Given the description of an element on the screen output the (x, y) to click on. 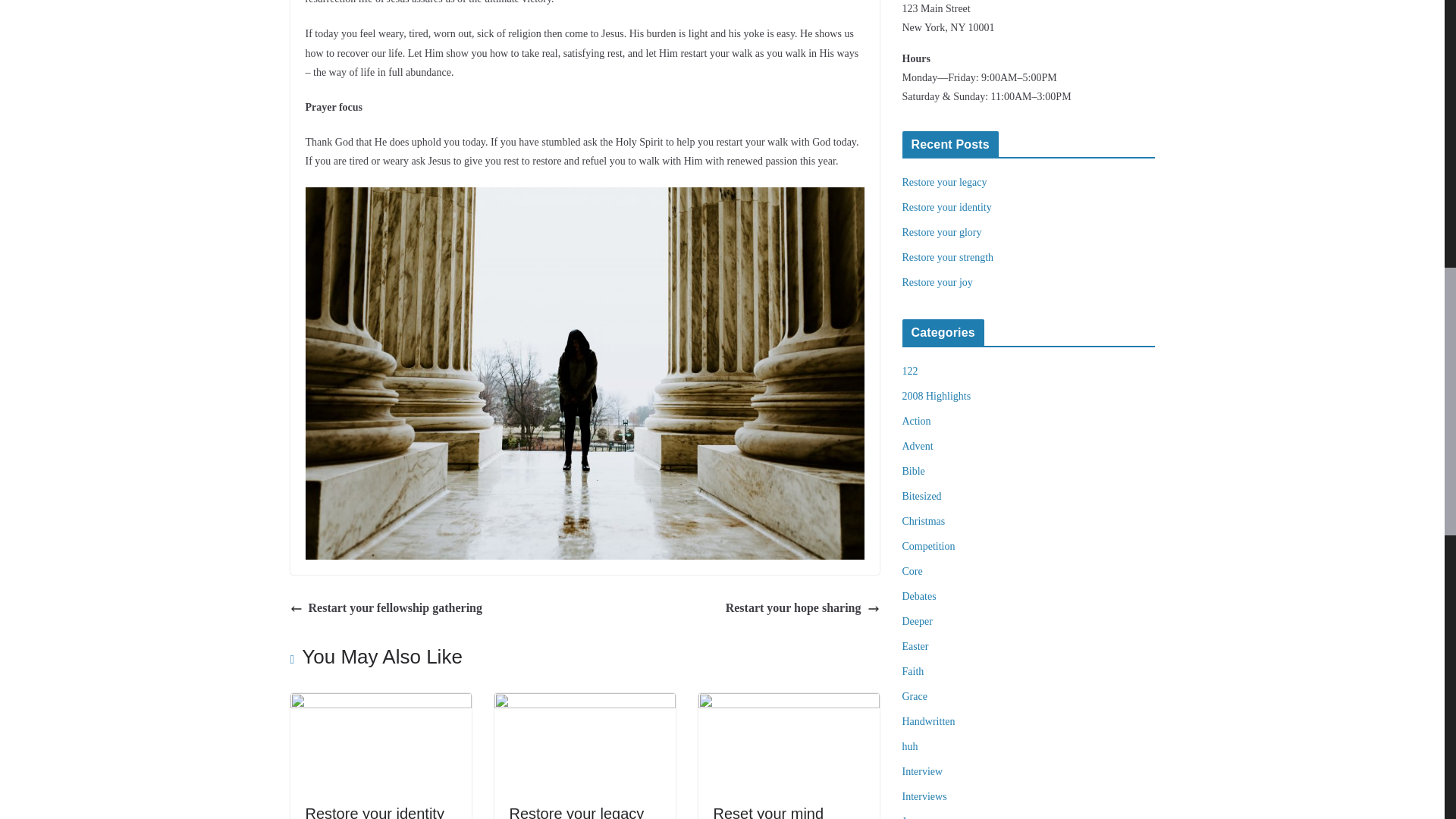
Restore your legacy (577, 812)
Restore your identity (374, 812)
Restore your identity (374, 812)
Bible (913, 471)
Restart your hope sharing (802, 608)
Reset your mind (768, 812)
Restore your identity (379, 703)
Restore your glory (941, 232)
Reset your mind (768, 812)
Restore your legacy (585, 703)
